Given the description of an element on the screen output the (x, y) to click on. 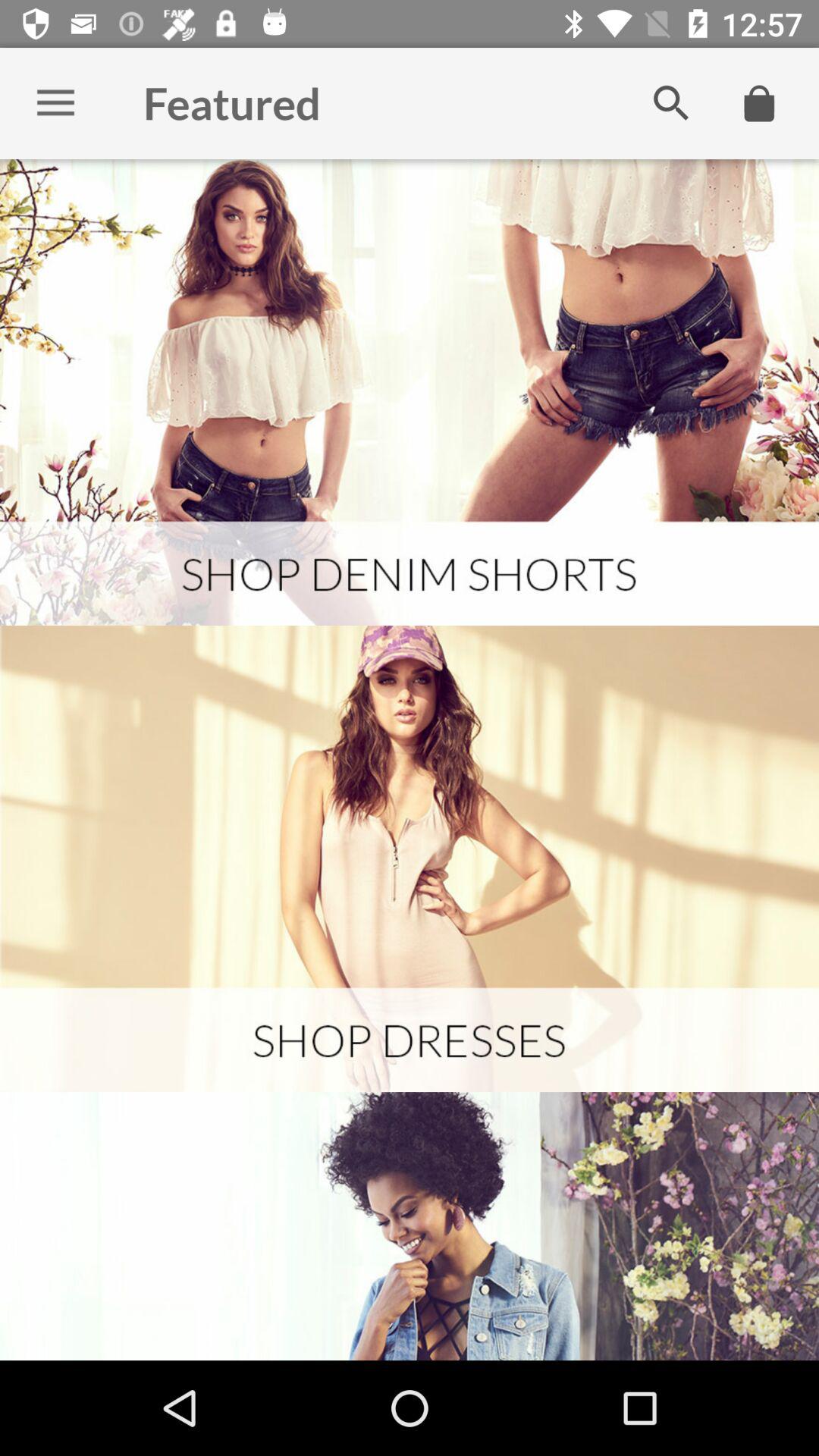
picture of the page (409, 858)
